Given the description of an element on the screen output the (x, y) to click on. 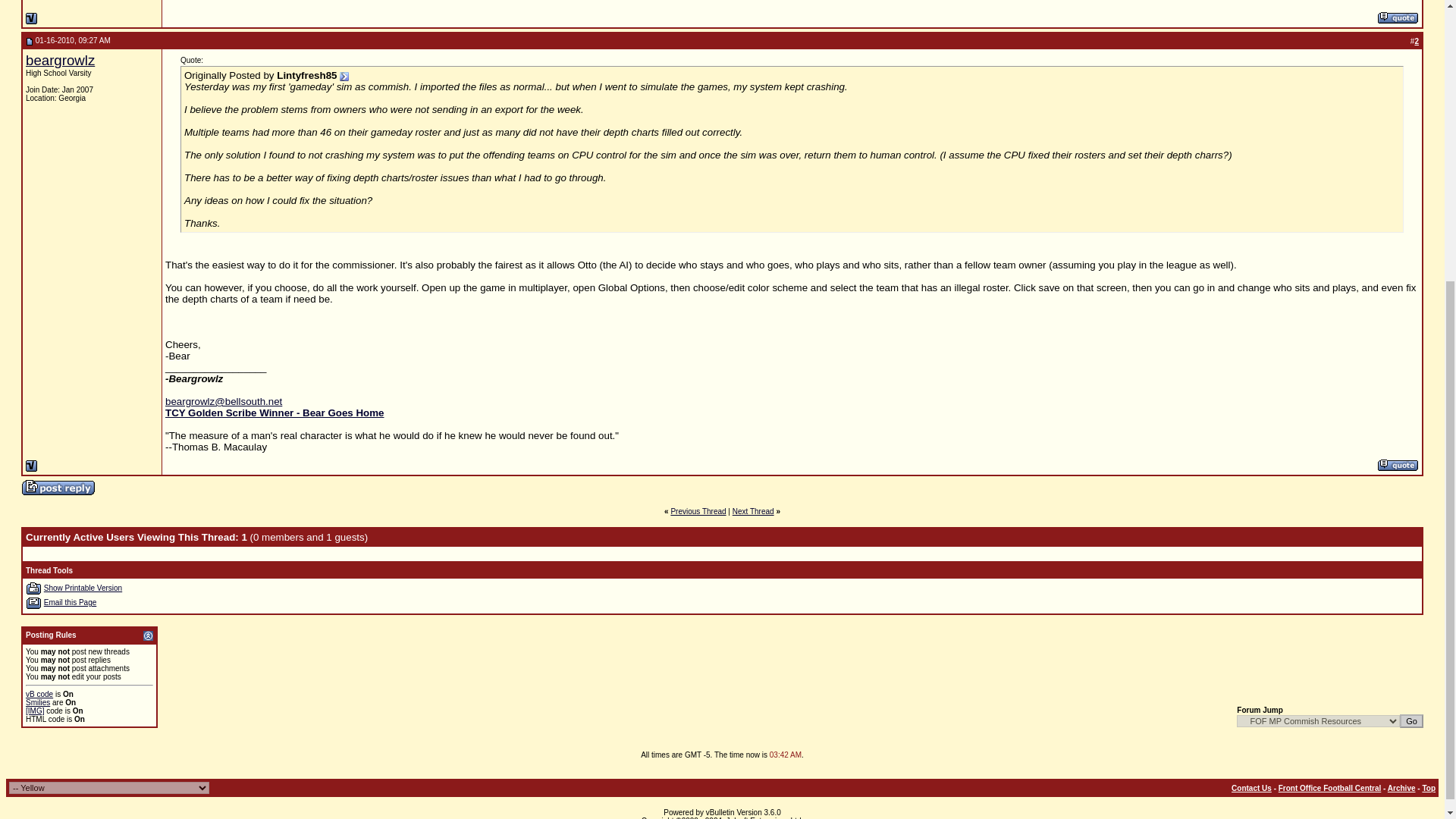
Email this Page (34, 603)
beargrowlz (60, 59)
Show Printable Version (34, 588)
Reply (58, 487)
beargrowlz is offline (31, 465)
Next Thread (753, 510)
Go (1411, 721)
Previous Thread (697, 510)
Reply With Quote (1397, 464)
Lintyfresh85 is offline (31, 18)
